Given the description of an element on the screen output the (x, y) to click on. 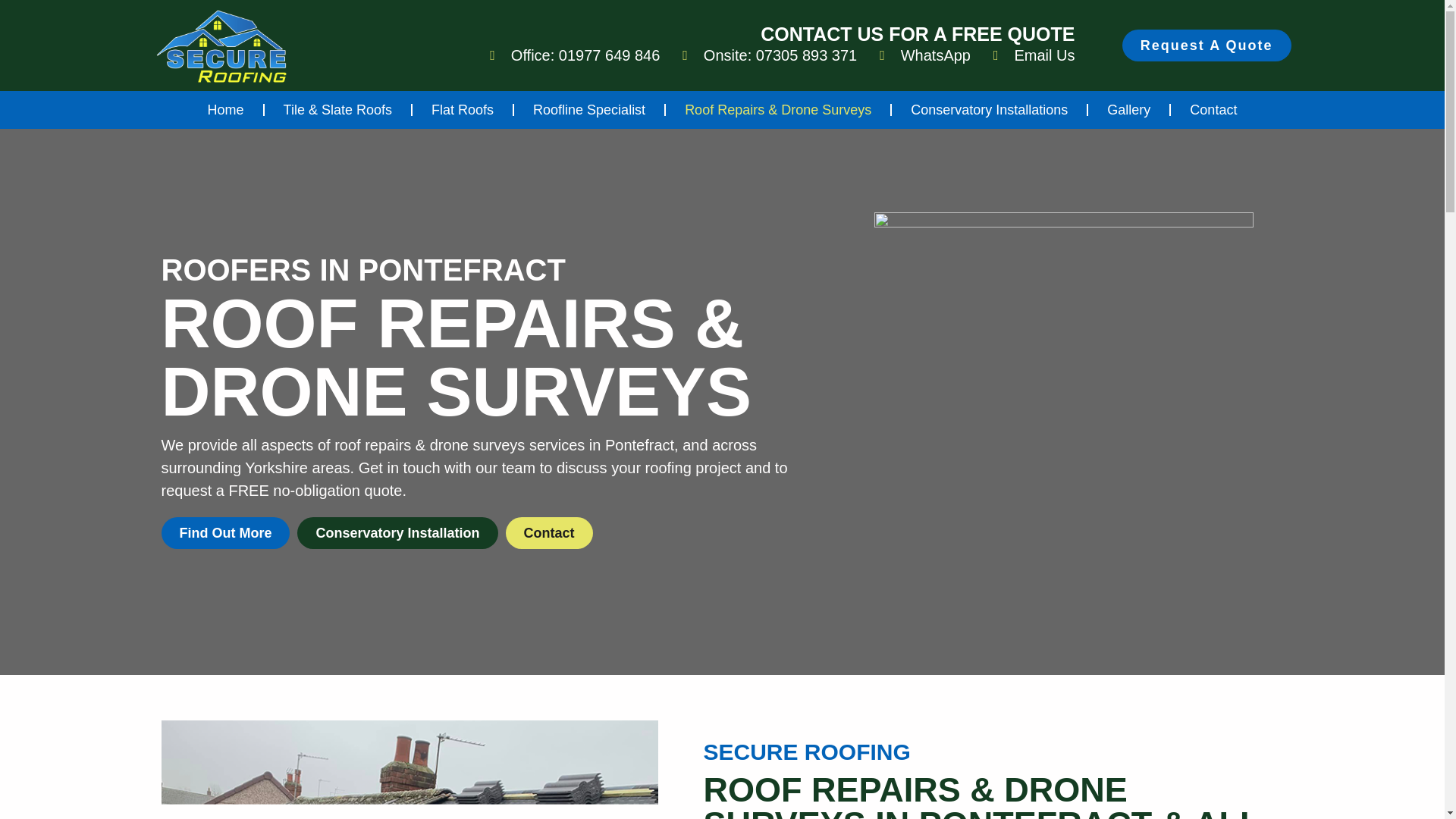
Flat Roofs (462, 109)
Conservatory Installations (988, 109)
WhatsApp (925, 55)
Contact (1212, 109)
Onsite: 07305 893 371 (769, 55)
Office: 01977 649 846 (574, 55)
Roofline Specialist (588, 109)
Gallery (1128, 109)
Email Us (1033, 55)
Home (226, 109)
